Given the description of an element on the screen output the (x, y) to click on. 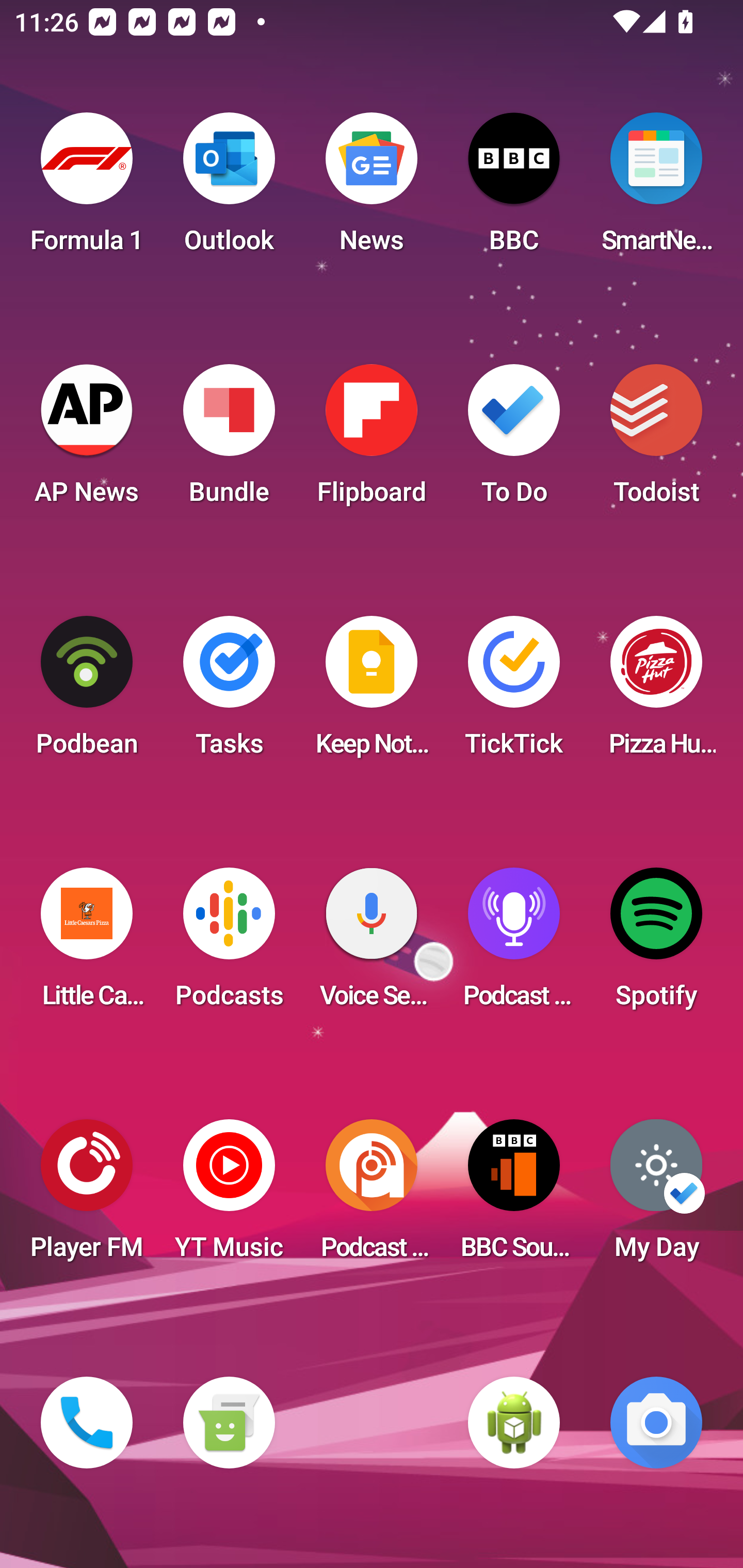
Formula 1 (86, 188)
Outlook (228, 188)
News (371, 188)
BBC (513, 188)
SmartNews (656, 188)
AP News (86, 440)
Bundle (228, 440)
Flipboard (371, 440)
To Do (513, 440)
Todoist (656, 440)
Podbean (86, 692)
Tasks (228, 692)
Keep Notes (371, 692)
TickTick (513, 692)
Pizza Hut HK & Macau (656, 692)
Little Caesars Pizza (86, 943)
Podcasts (228, 943)
Voice Search (371, 943)
Podcast Player (513, 943)
Spotify (656, 943)
Player FM (86, 1195)
YT Music (228, 1195)
Podcast Addict (371, 1195)
BBC Sounds (513, 1195)
My Day (656, 1195)
Phone (86, 1422)
Messaging (228, 1422)
WebView Browser Tester (513, 1422)
Camera (656, 1422)
